Given the description of an element on the screen output the (x, y) to click on. 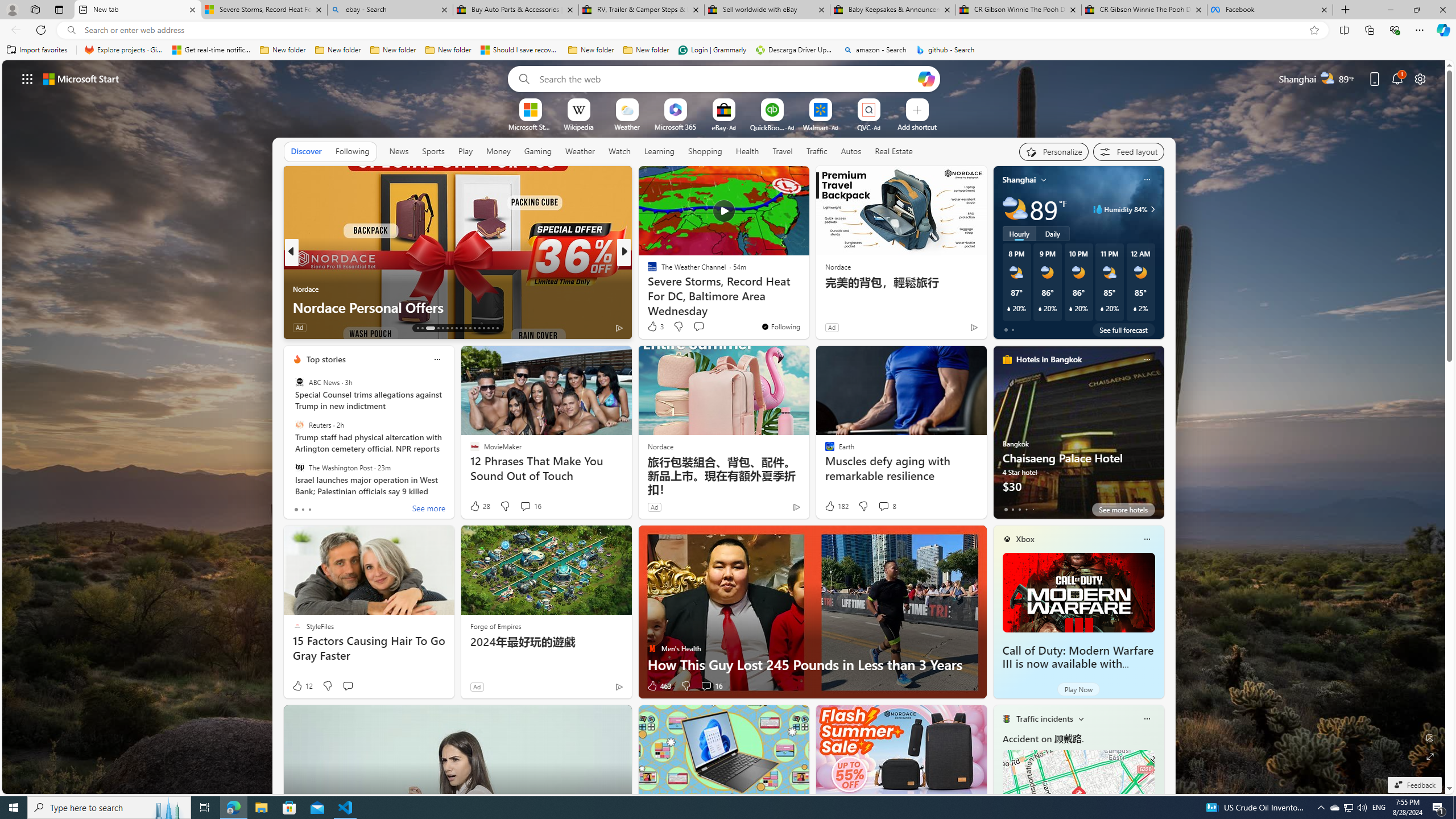
tab-4 (1032, 509)
AutomationID: tab-18 (446, 328)
View comments 8 Comment (887, 505)
The #1 Best Bench Press Workout To Increase Strength (807, 298)
View comments 8 Comment (883, 505)
MUO (647, 288)
NBC News (647, 270)
USA TODAY (647, 270)
